Given the description of an element on the screen output the (x, y) to click on. 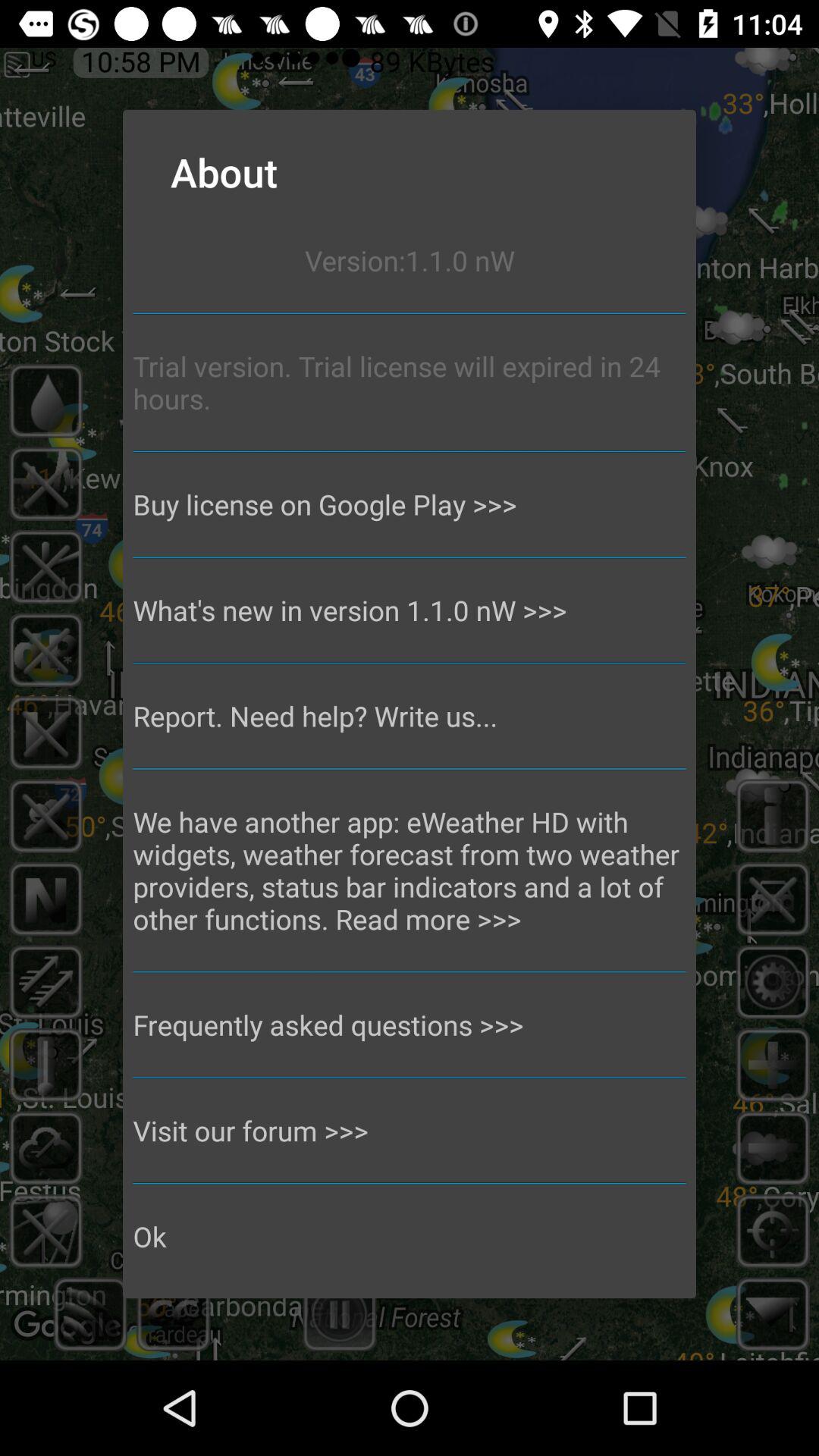
launch the what s new (409, 610)
